Given the description of an element on the screen output the (x, y) to click on. 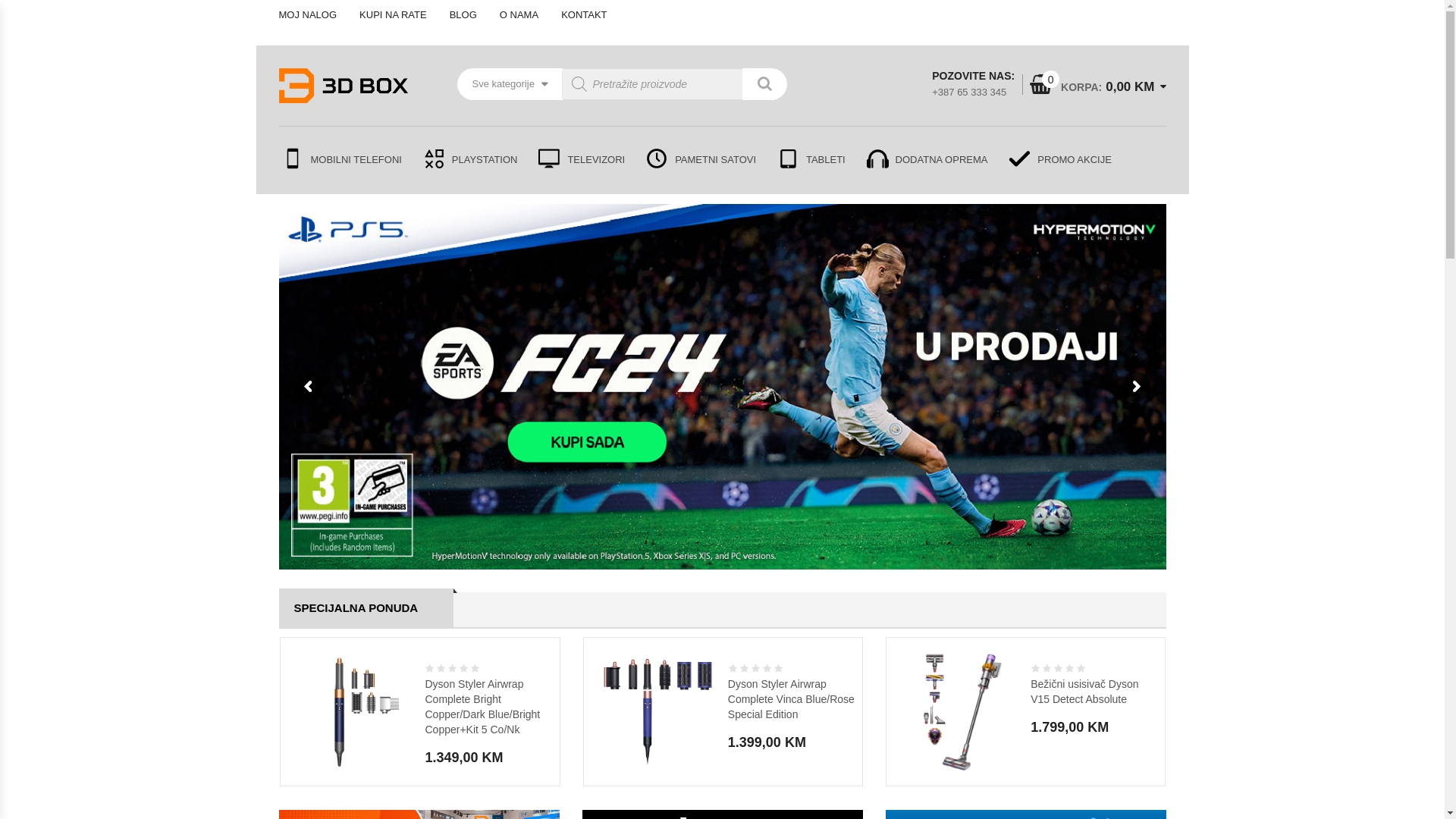
Rated 0 out of 5 Element type: hover (1059, 668)
PLAYSTATION Element type: text (468, 160)
0
KORPA:0,00 KM Element type: text (1091, 87)
O NAMA Element type: text (518, 15)
TELEVIZORI Element type: text (579, 160)
PROMO AKCIJE Element type: text (1054, 160)
BLOG Element type: text (463, 15)
KONTAKT Element type: text (583, 15)
MOJ NALOG Element type: text (313, 15)
Rated 0 out of 5 Element type: hover (756, 668)
DODATNA OPREMA Element type: text (925, 160)
Rated 0 out of 5 Element type: hover (453, 668)
TABLETI Element type: text (809, 160)
PAMETNI SATOVI Element type: text (699, 160)
MOBILNI TELEFONI Element type: text (344, 160)
Sve kategorije Element type: text (508, 84)
KUPI NA RATE Element type: text (393, 15)
